Given the description of an element on the screen output the (x, y) to click on. 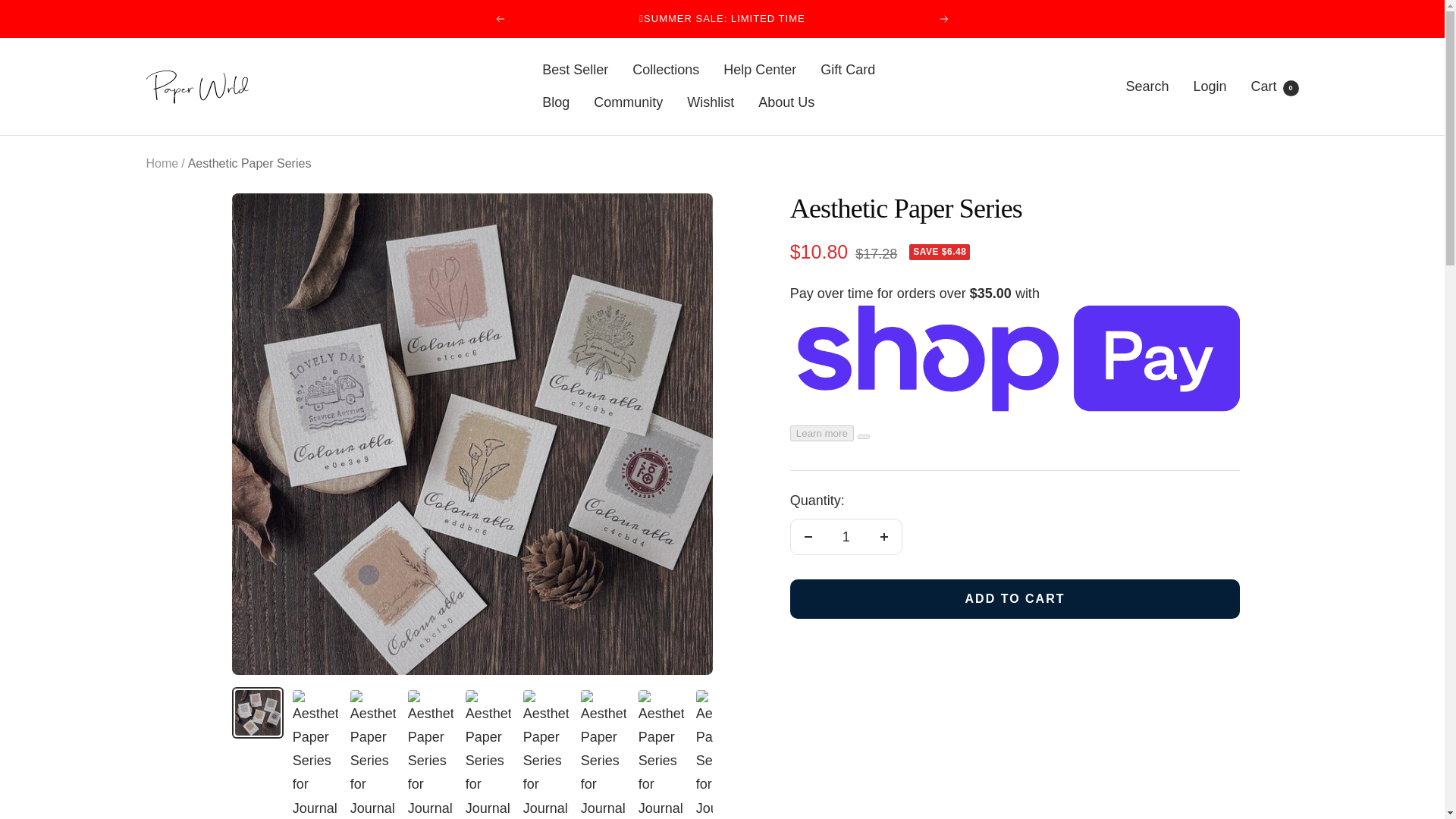
Gift Card (1274, 86)
Search (848, 69)
Collections (1147, 86)
Decrease quantity (664, 69)
Increase quantity (807, 536)
Next (883, 536)
About Us (944, 18)
Blog (785, 102)
PaperWrld (555, 102)
